Given the description of an element on the screen output the (x, y) to click on. 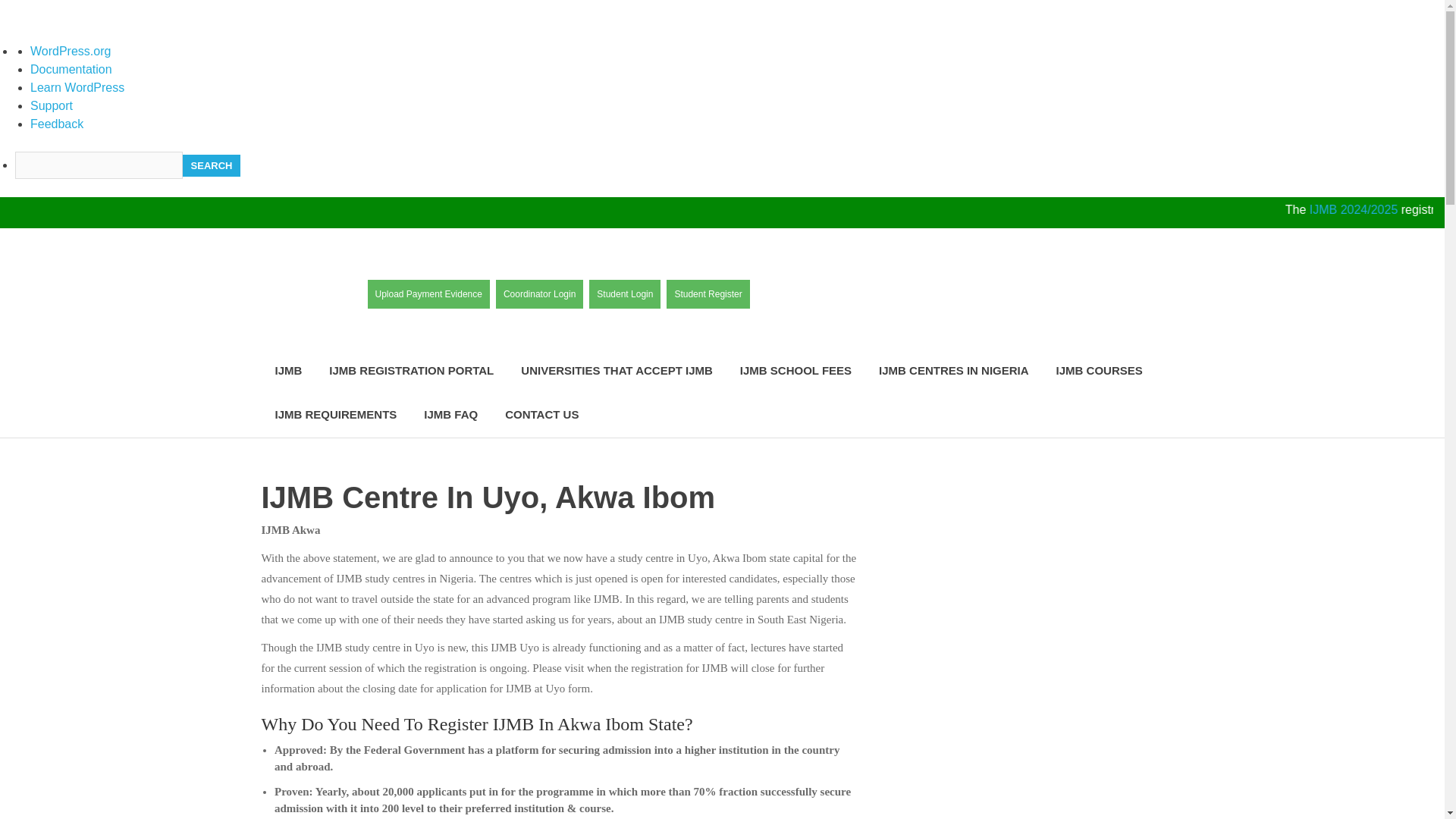
Search (211, 165)
IJMB REQUIREMENTS (335, 415)
IJMB SCHOOL FEES (795, 370)
WordPress.org (70, 51)
CONTACT US (542, 415)
Documentation (71, 69)
IJMB CENTRES IN NIGERIA (953, 370)
Learn WordPress (76, 87)
IJMB COURSES (1099, 370)
Coordinator Login (539, 294)
IJMB REGISTRATION PORTAL (410, 370)
IJMB (287, 370)
UNIVERSITIES THAT ACCEPT IJMB (616, 370)
Upload Payment Evidence (427, 294)
IJMB FAQ (451, 415)
